Given the description of an element on the screen output the (x, y) to click on. 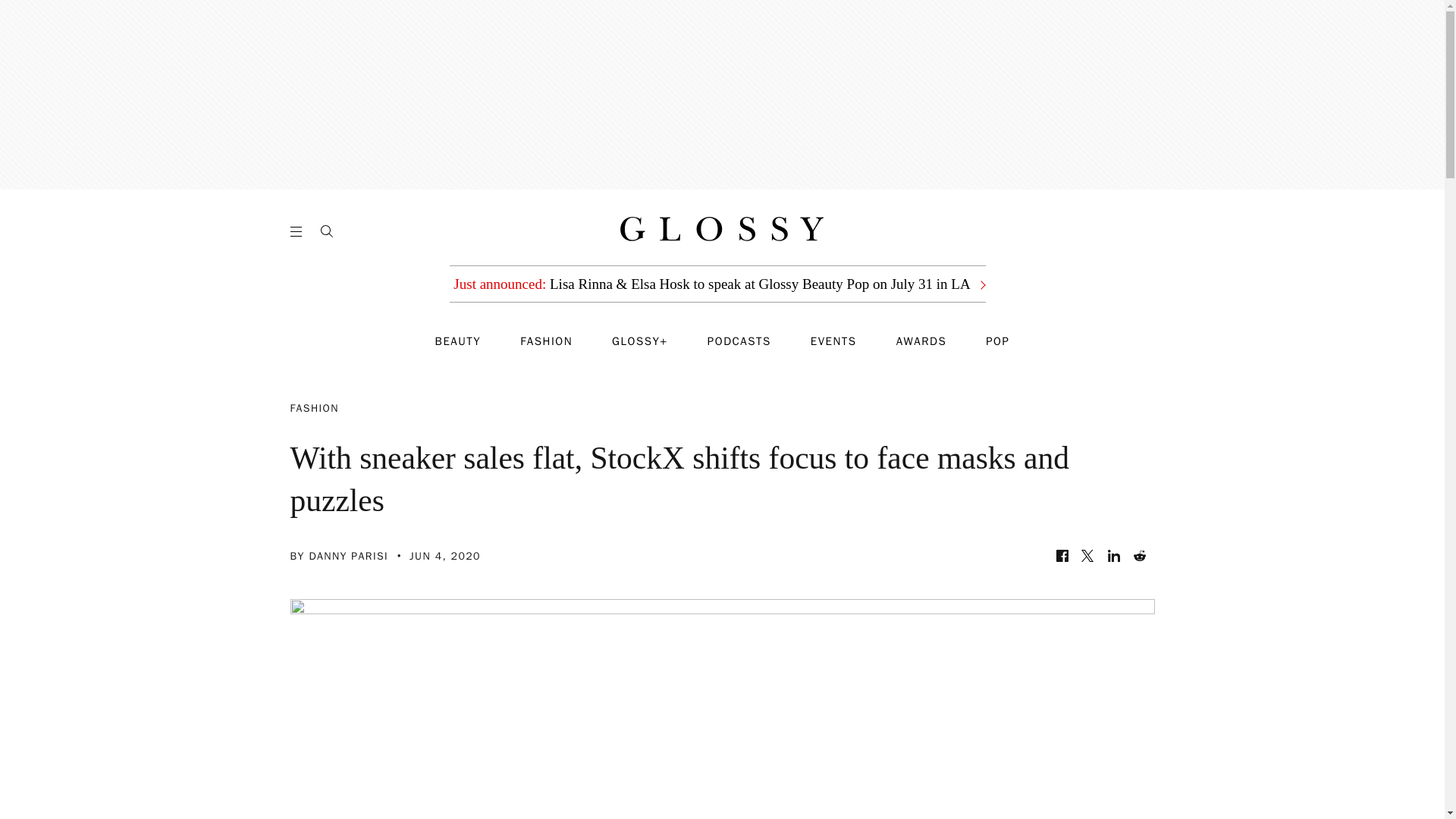
POP (997, 341)
EVENTS (833, 341)
FASHION (545, 341)
BEAUTY (458, 341)
PODCASTS (739, 341)
AWARDS (921, 341)
